Given the description of an element on the screen output the (x, y) to click on. 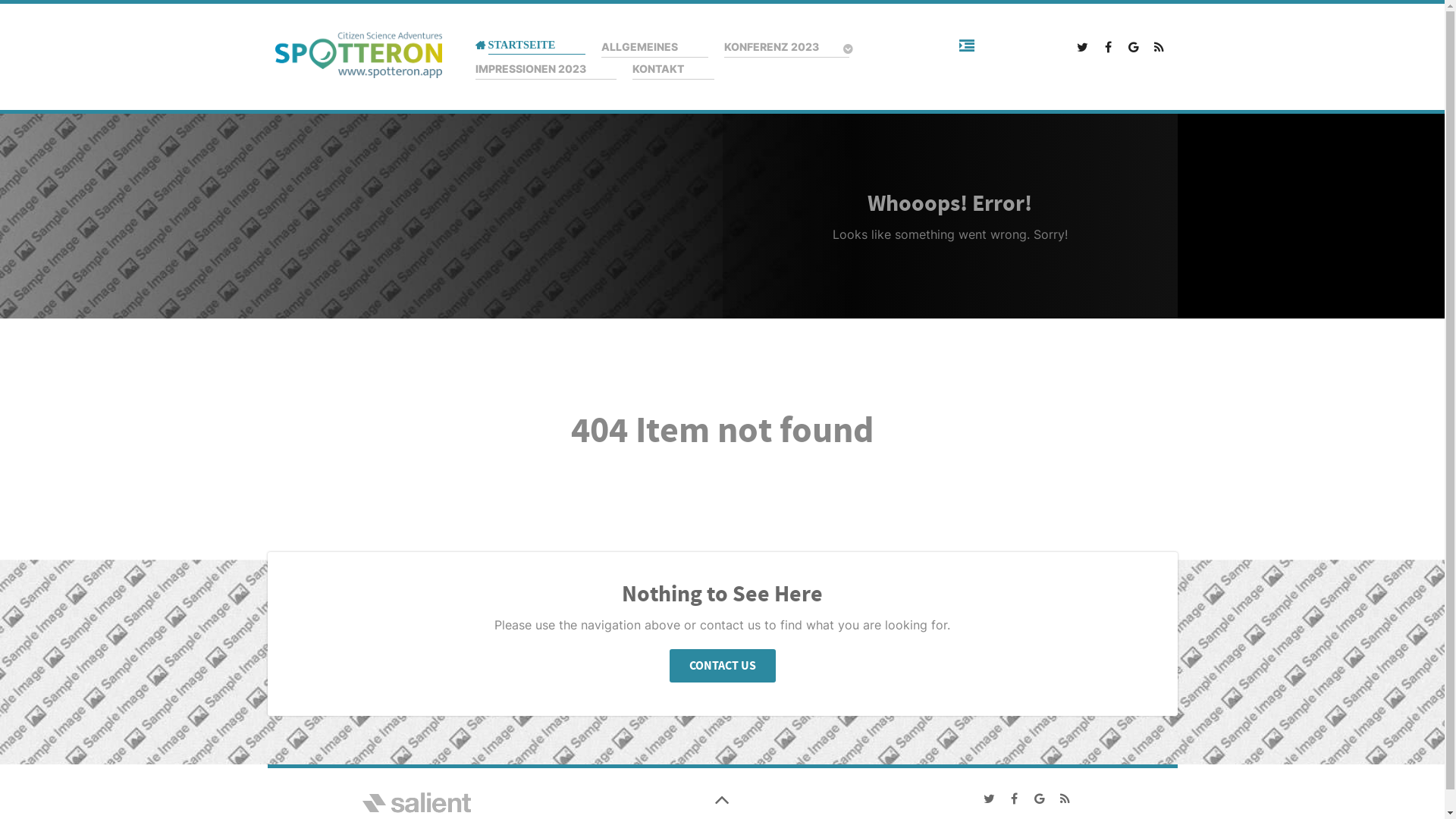
ALLGEMEINES Element type: text (654, 46)
IMPRESSIONEN 2023 Element type: text (544, 68)
CONTACT US Element type: text (721, 665)
KONFERENZ 2023 Element type: text (788, 47)
KONTAKT Element type: text (673, 68)
STARTSEITE Element type: text (529, 44)
